Given the description of an element on the screen output the (x, y) to click on. 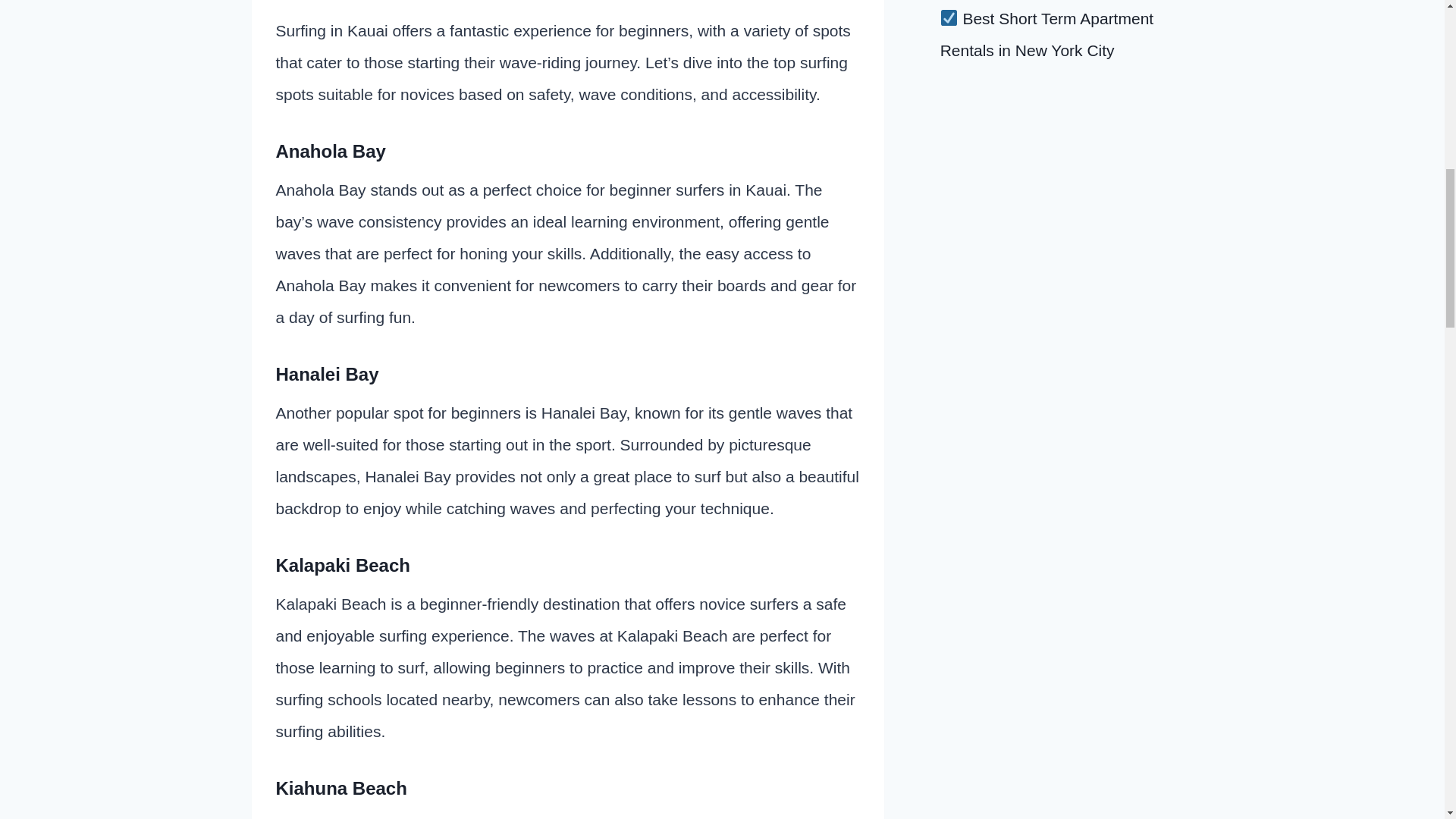
Best Short Term Apartment Rentals in New York City (1047, 33)
